Given the description of an element on the screen output the (x, y) to click on. 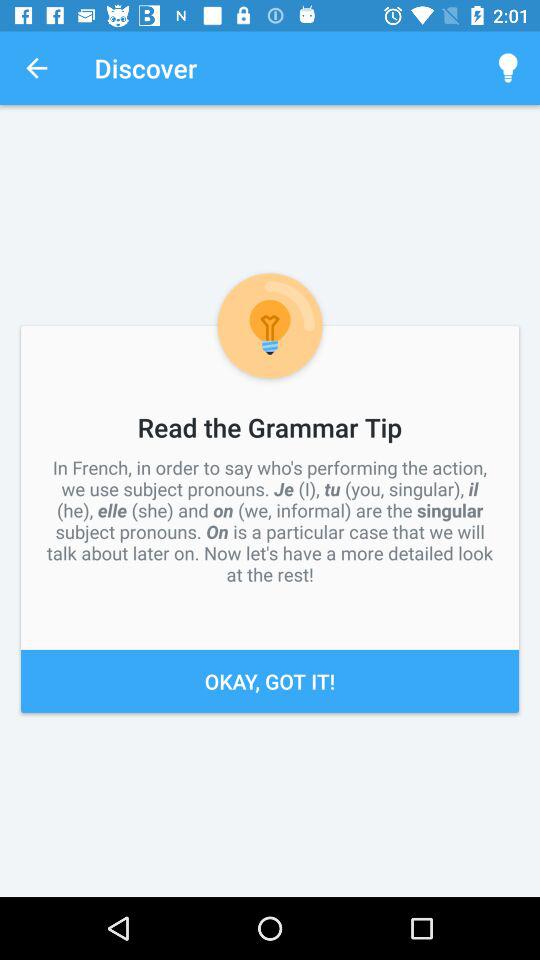
select the okay, got it! item (270, 680)
